Given the description of an element on the screen output the (x, y) to click on. 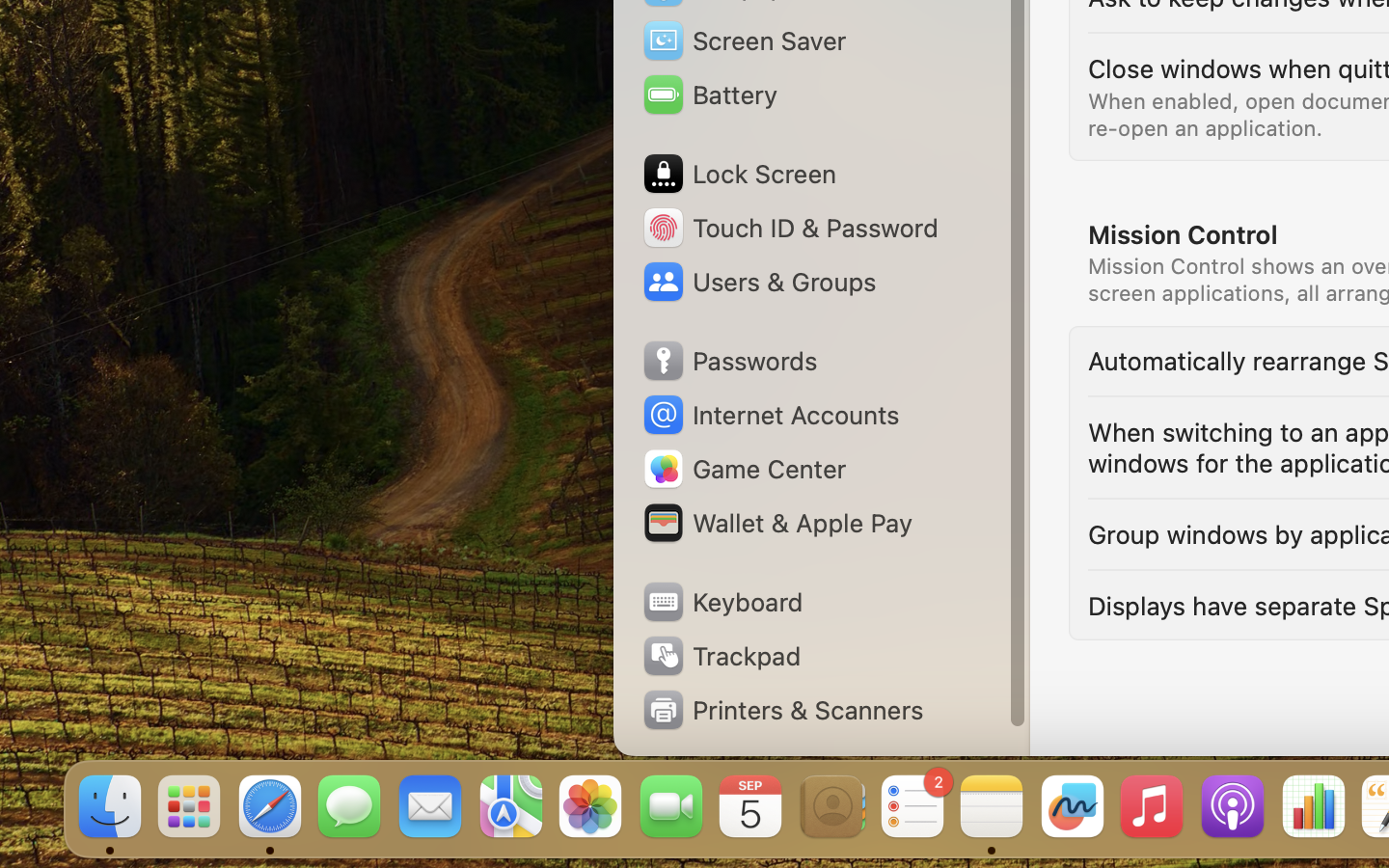
Touch ID & Password Element type: AXStaticText (789, 227)
Keyboard Element type: AXStaticText (721, 601)
Trackpad Element type: AXStaticText (720, 655)
Passwords Element type: AXStaticText (728, 360)
Printers & Scanners Element type: AXStaticText (782, 709)
